Given the description of an element on the screen output the (x, y) to click on. 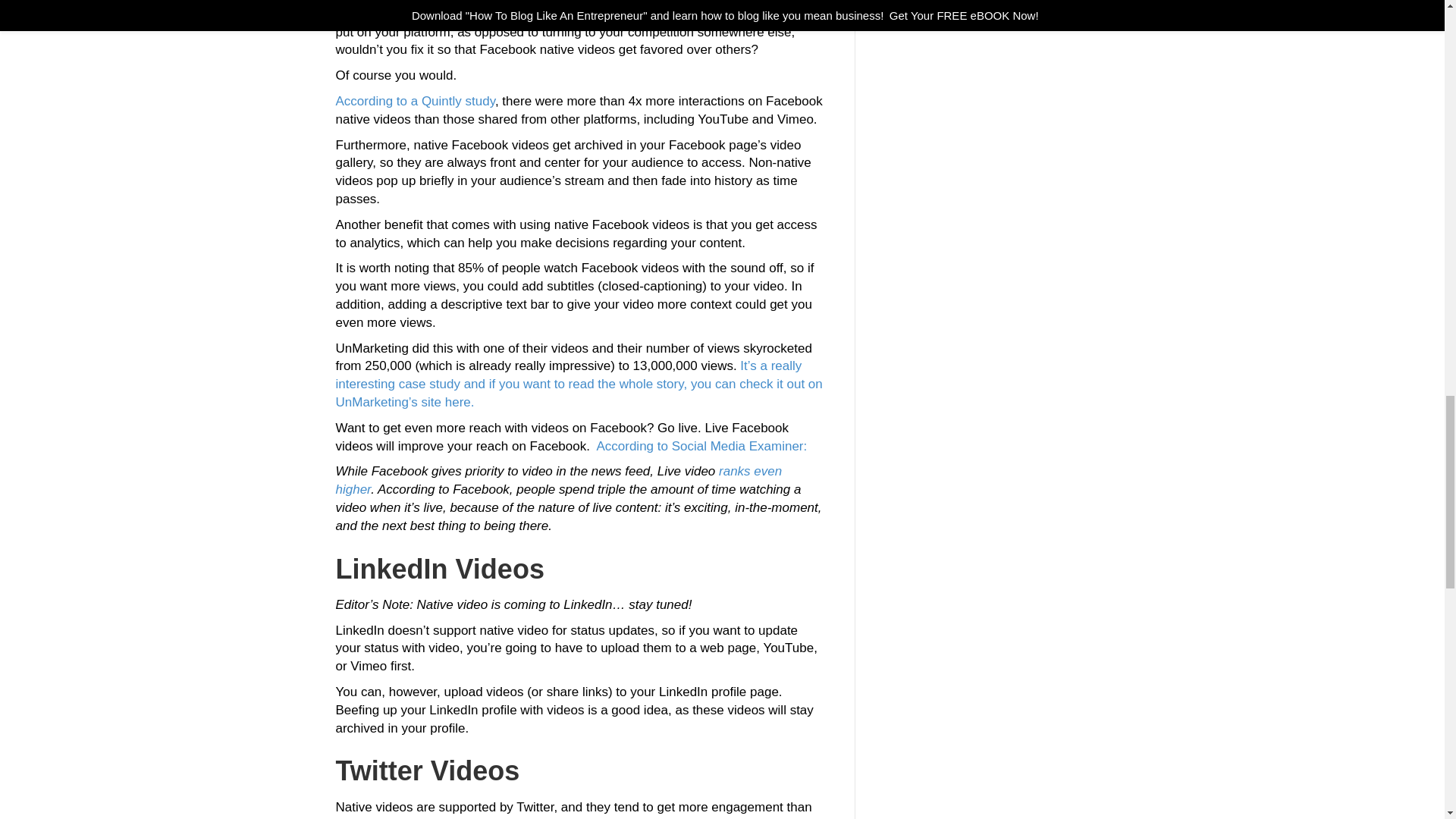
According to Social Media Examiner: (700, 445)
According to a Quintly study (414, 101)
ranks even higher (557, 480)
